Given the description of an element on the screen output the (x, y) to click on. 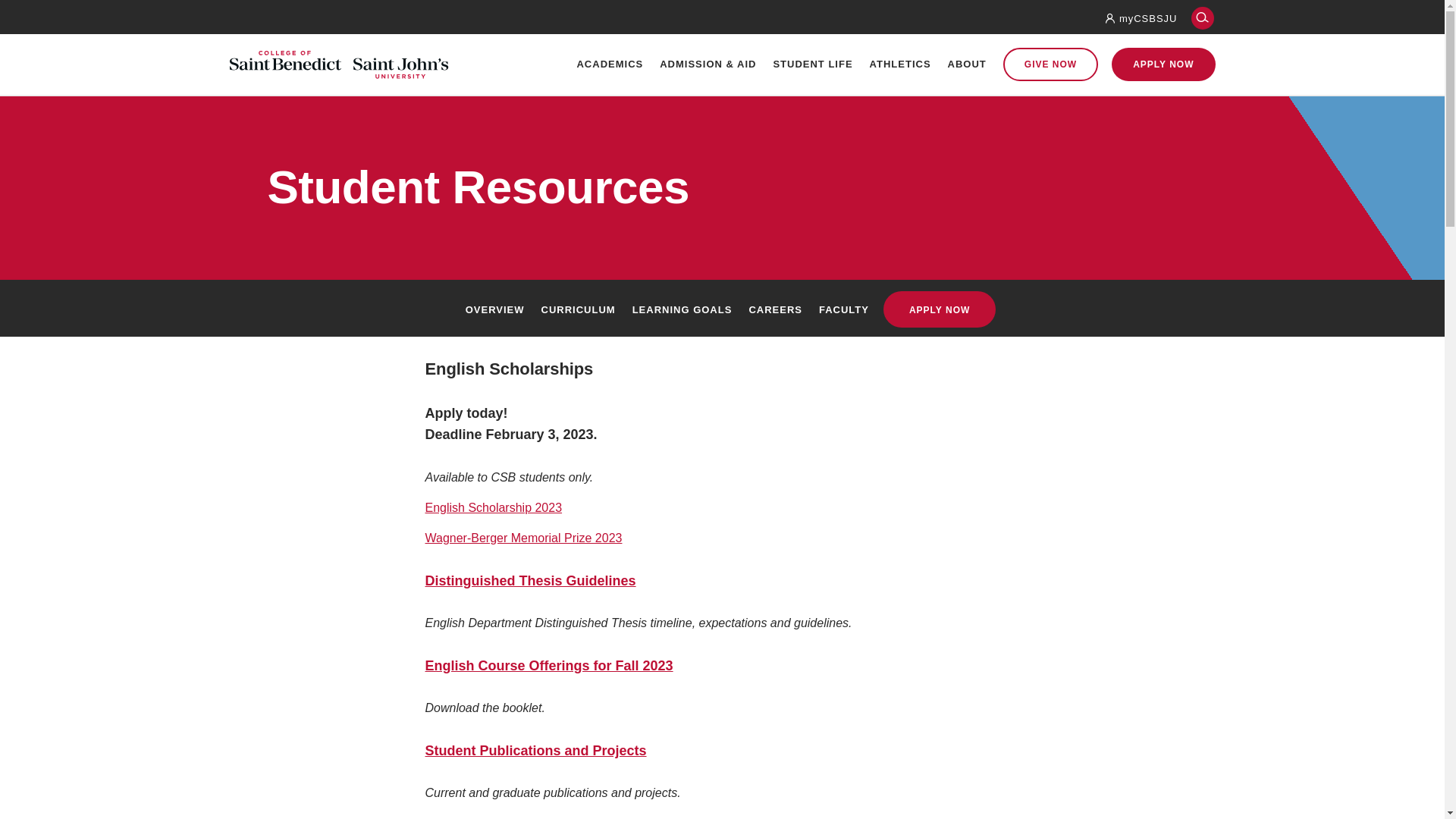
Libraries (710, 361)
Lecture Series (710, 297)
Graduate Programs (494, 201)
School of Theology (494, 233)
Integrations Curriculum (710, 265)
Academic Advising (710, 169)
ADMISSION (468, 139)
Study Abroad (710, 233)
Course Catalog (494, 265)
BACK (900, 169)
myCSBSJU (1148, 17)
Student Publications and Projects (535, 750)
ACADEMICS (609, 64)
Honors Scholars (710, 393)
Distinguished Thesis Guidelines (529, 580)
